Given the description of an element on the screen output the (x, y) to click on. 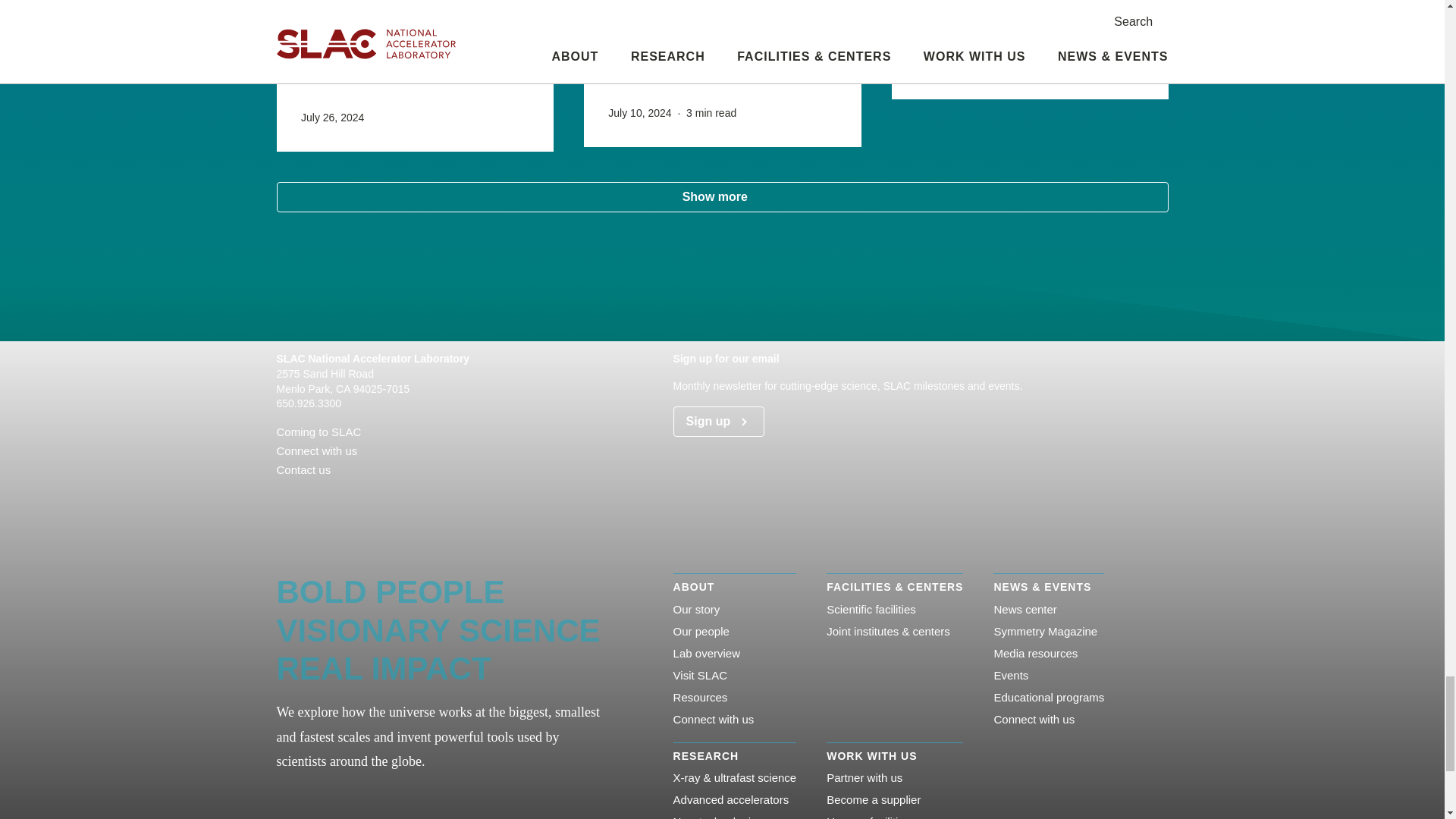
Facebook (282, 497)
Instagram (330, 497)
Twitter (378, 497)
LinkedIn (355, 497)
YouTube (403, 497)
Flickr (306, 497)
